Given the description of an element on the screen output the (x, y) to click on. 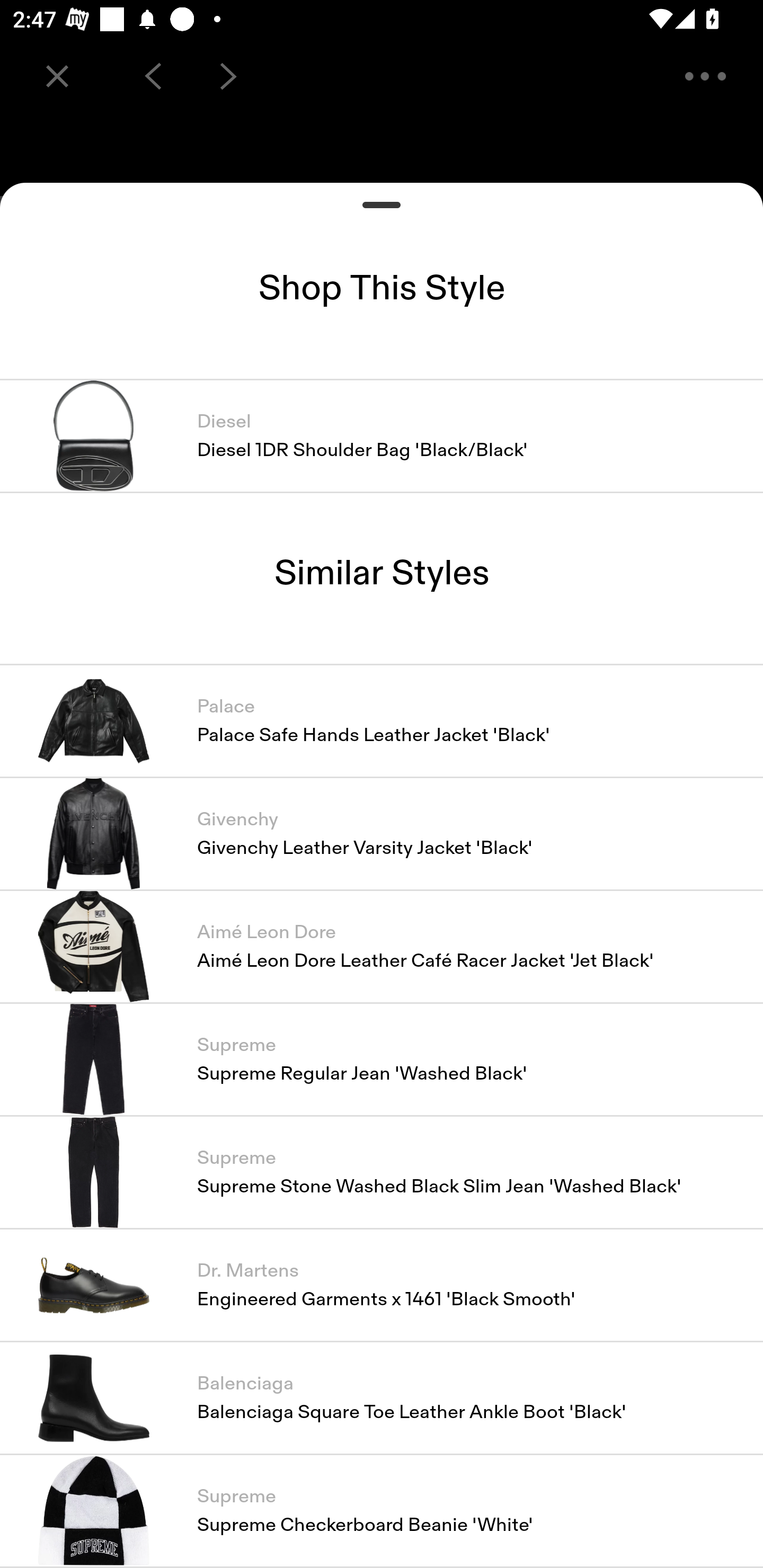
Diesel Diesel 1DR Shoulder Bag 'Black/Black' (381, 436)
Palace Palace Safe Hands Leather Jacket 'Black' (381, 720)
Givenchy Givenchy Leather Varsity Jacket 'Black' (381, 833)
Supreme Supreme Regular Jean 'Washed Black' (381, 1058)
Supreme Supreme Checkerboard Beanie 'White' (381, 1510)
